Given the description of an element on the screen output the (x, y) to click on. 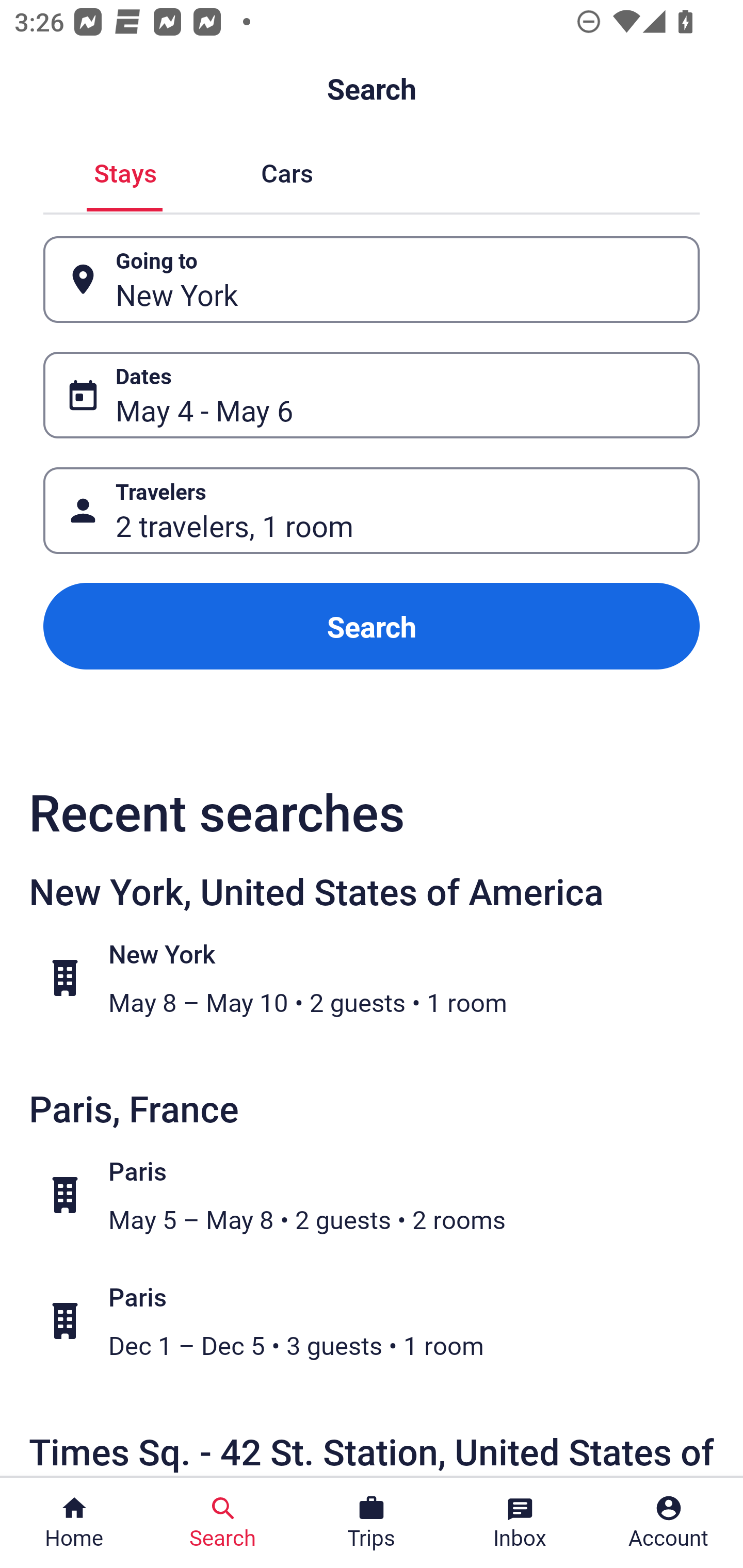
Cars (286, 171)
Going to Button New York (371, 279)
Dates Button May 4 - May 6 (371, 395)
Travelers Button 2 travelers, 1 room (371, 510)
Search (371, 626)
New York May 8 – May 10 • 2 guests • 1 room (382, 978)
Paris May 5 – May 8 • 2 guests • 2 rooms (382, 1194)
Paris Dec 1 – Dec 5 • 3 guests • 1 room (382, 1320)
Home Home Button (74, 1522)
Trips Trips Button (371, 1522)
Inbox Inbox Button (519, 1522)
Account Profile. Button (668, 1522)
